Given the description of an element on the screen output the (x, y) to click on. 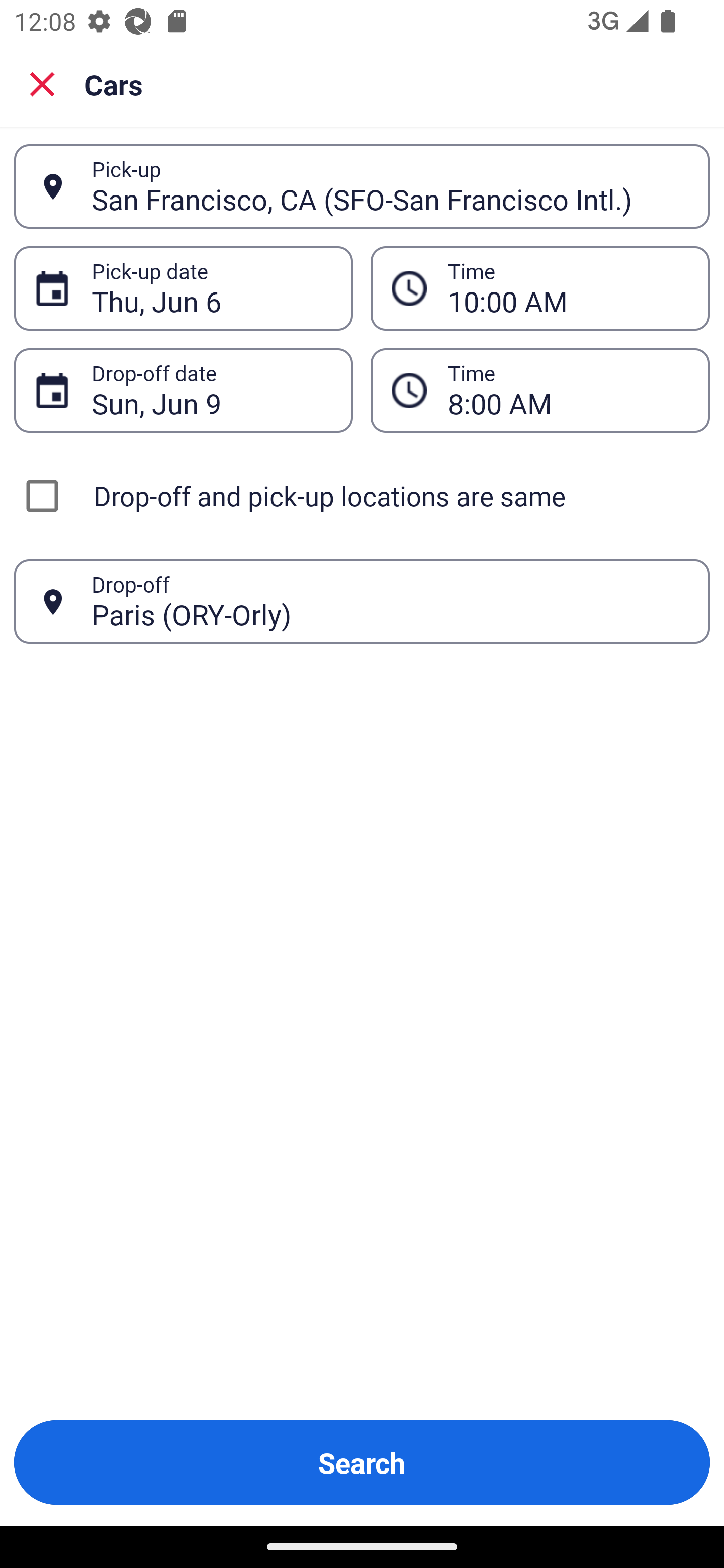
Close search screen (42, 84)
San Francisco, CA (SFO-San Francisco Intl.) (389, 186)
Thu, Jun 6 (211, 288)
10:00 AM (568, 288)
Sun, Jun 9 (211, 390)
8:00 AM (568, 390)
Drop-off and pick-up locations are same (361, 495)
Paris (ORY-Orly) (389, 601)
Search Button Search (361, 1462)
